Given the description of an element on the screen output the (x, y) to click on. 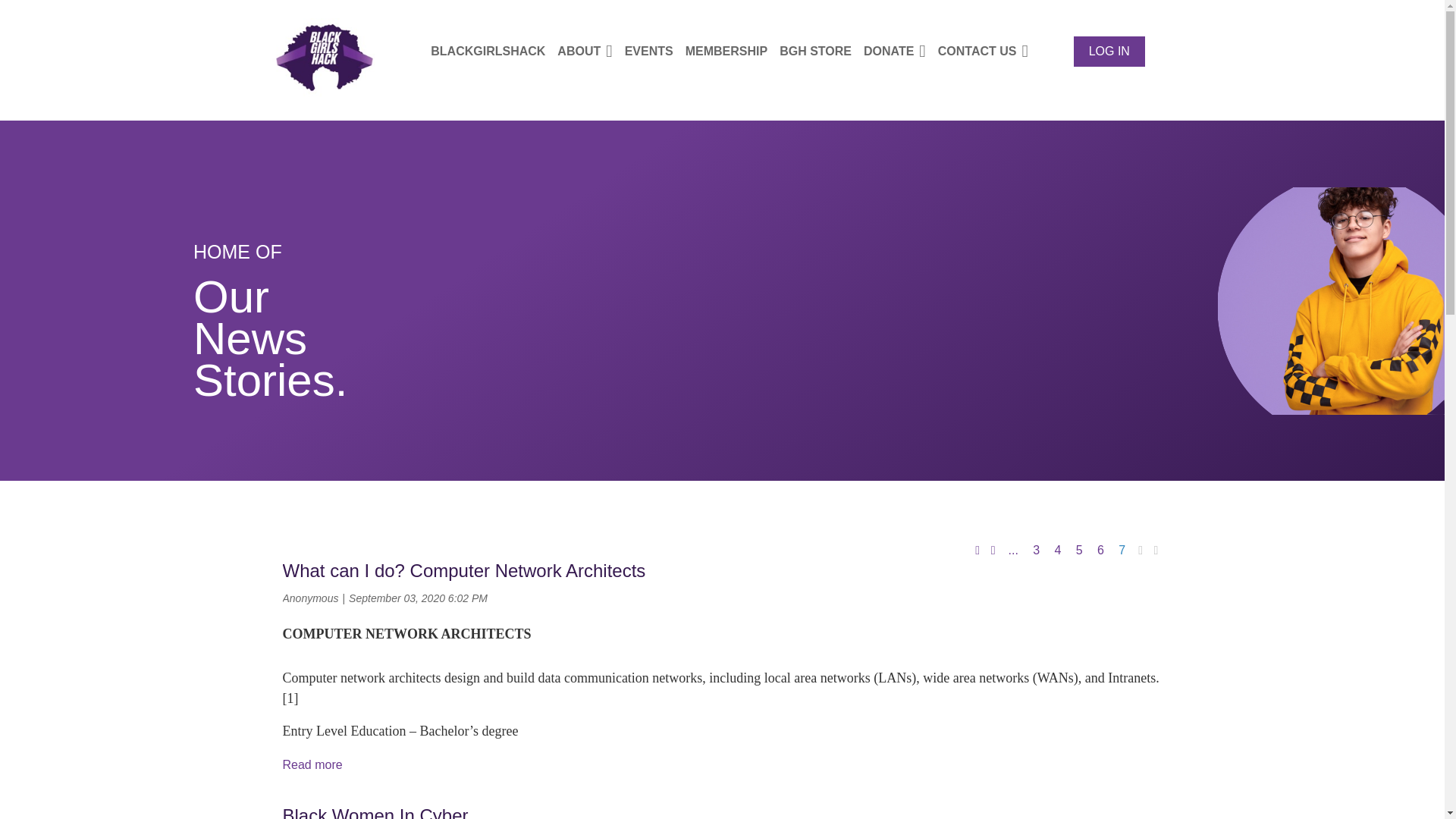
BLACKGIRLSHACK (493, 51)
BGH STORE (820, 51)
ABOUT (590, 51)
EVENTS (654, 51)
LOG IN (1109, 51)
MEMBERSHIP (731, 51)
 ...  (1013, 550)
CONTACT US (989, 51)
DONATE (900, 51)
